Given the description of an element on the screen output the (x, y) to click on. 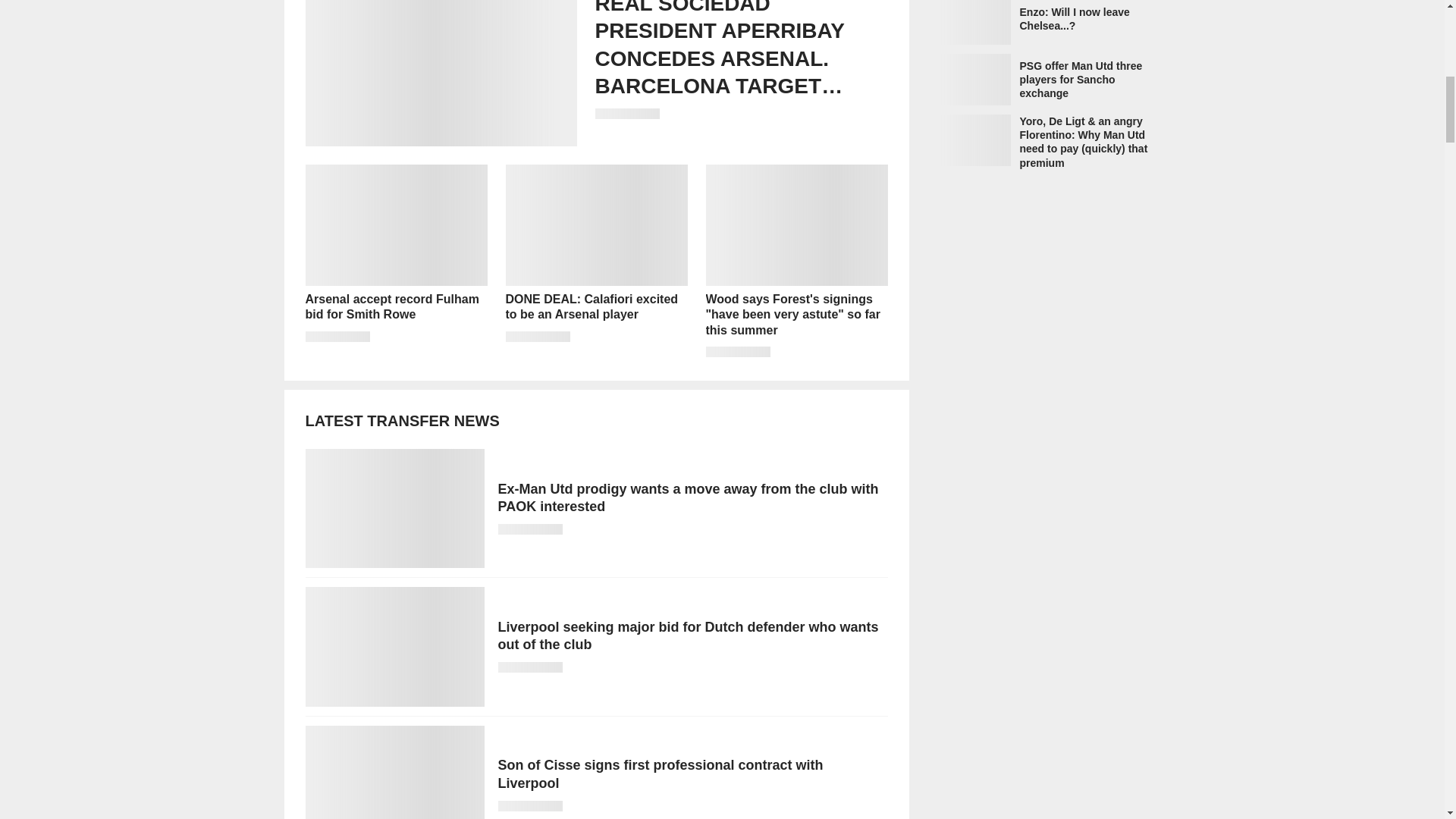
Arsenal accept record Fulham bid for Smith Rowe (395, 260)
DONE DEAL: Calafiori excited to be an Arsenal player (596, 260)
DONE DEAL: Calafiori excited to be an Arsenal player (596, 260)
Arsenal accept record Fulham bid for Smith Rowe (395, 260)
